Given the description of an element on the screen output the (x, y) to click on. 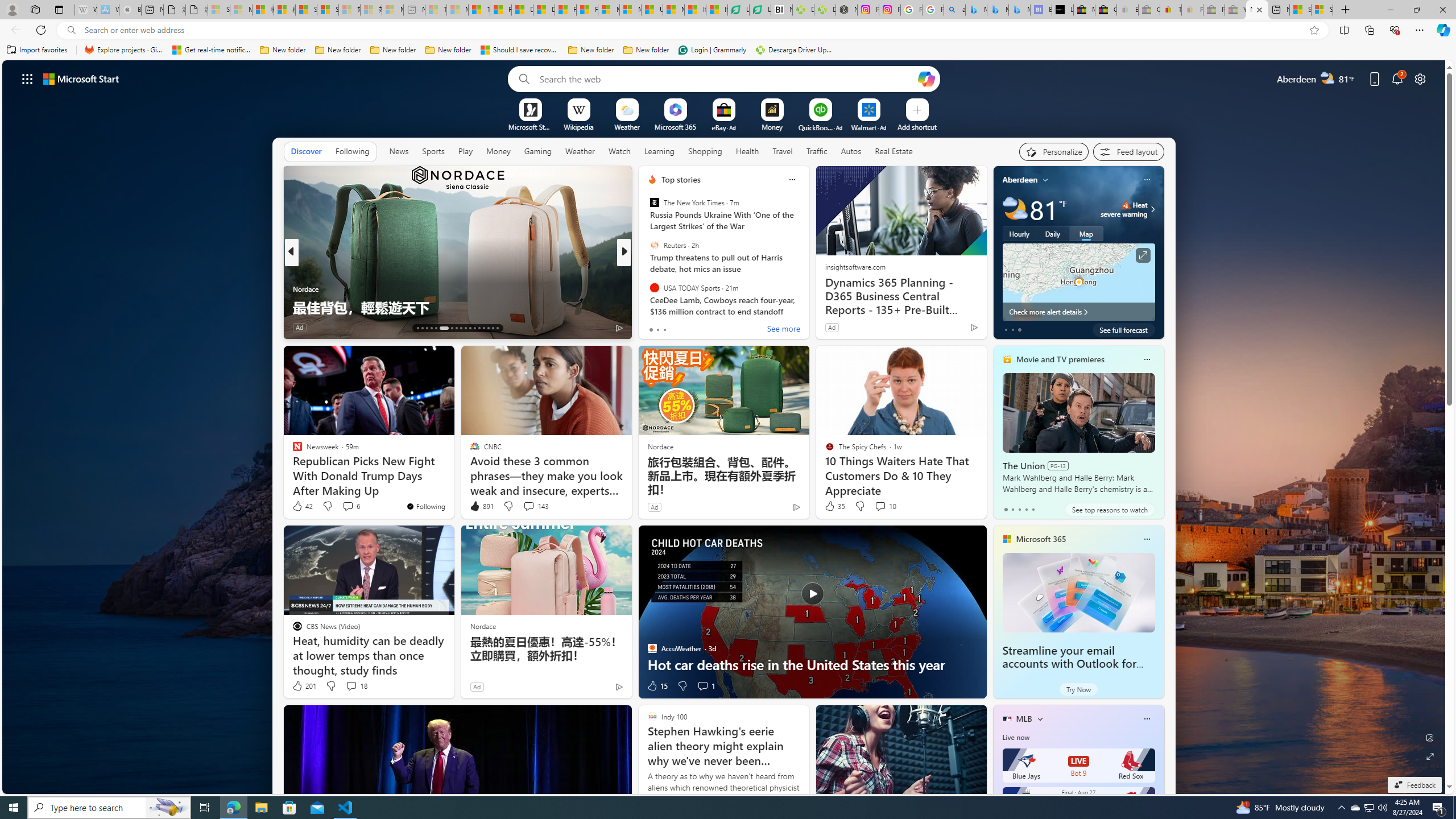
Salon (647, 270)
Expand background (1430, 756)
My location (1045, 179)
12 Signs You Lack Self-Respect (807, 307)
View comments 143 Comment (535, 505)
AutomationID: tab-16 (431, 328)
Should I save recovered Word documents? - Microsoft Support (519, 49)
